Given the description of an element on the screen output the (x, y) to click on. 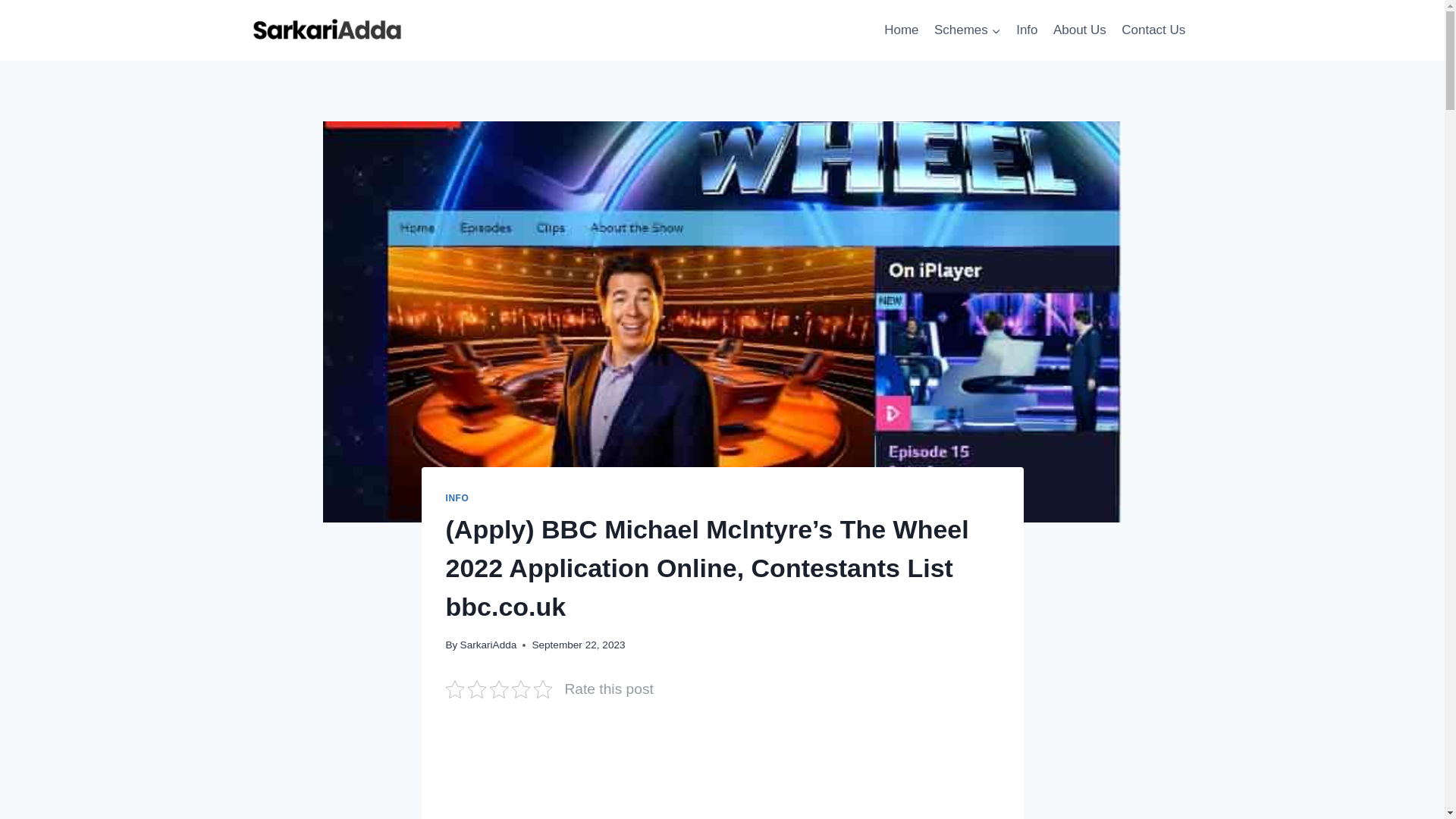
Home (901, 30)
Info (1027, 30)
INFO (456, 498)
Advertisement (721, 771)
SarkariAdda (488, 644)
About Us (1079, 30)
Schemes (967, 30)
Contact Us (1152, 30)
